Given the description of an element on the screen output the (x, y) to click on. 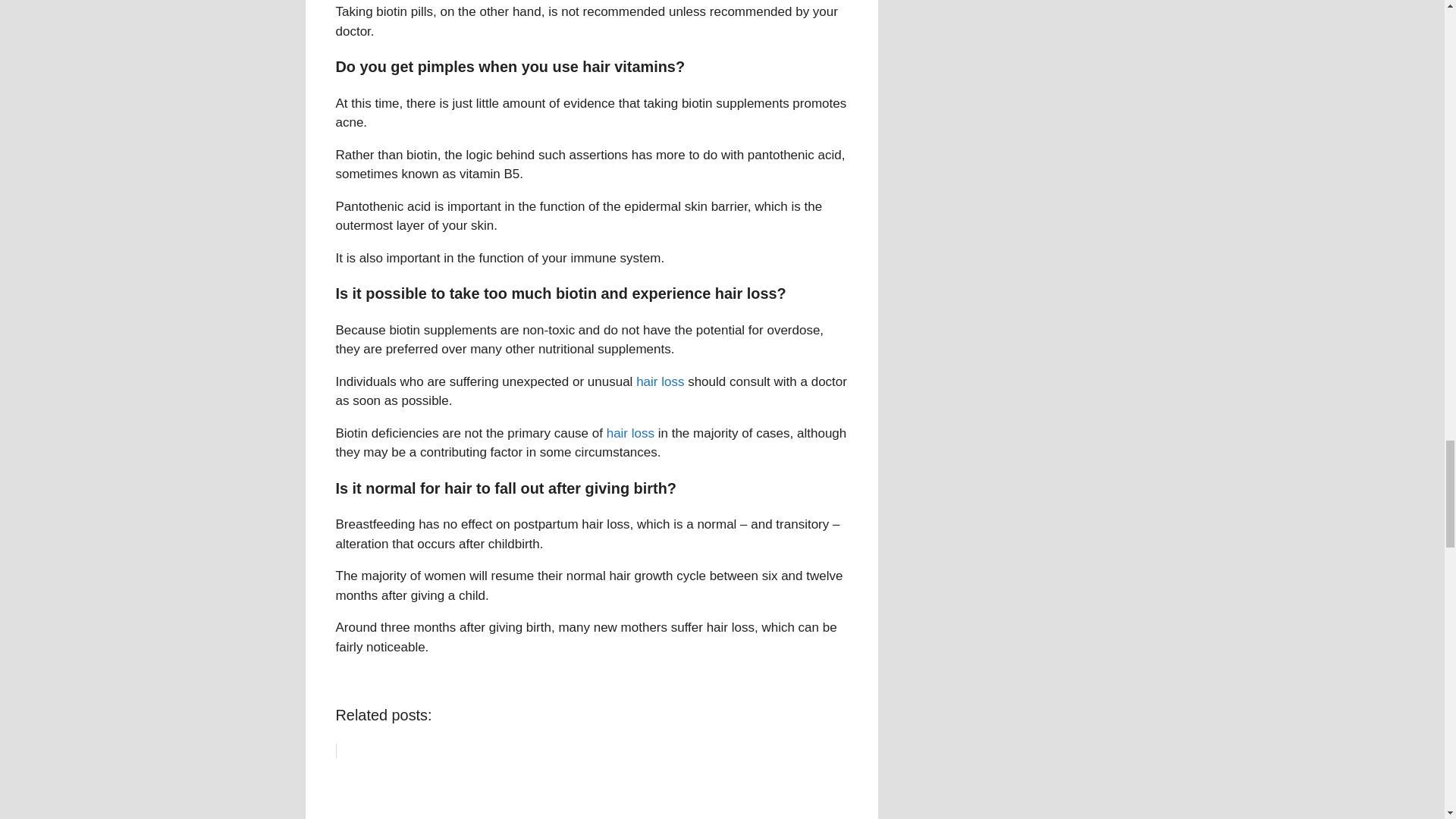
hair loss (660, 381)
Castor Oil For Hair Growth (590, 781)
hair loss (630, 432)
